Given the description of an element on the screen output the (x, y) to click on. 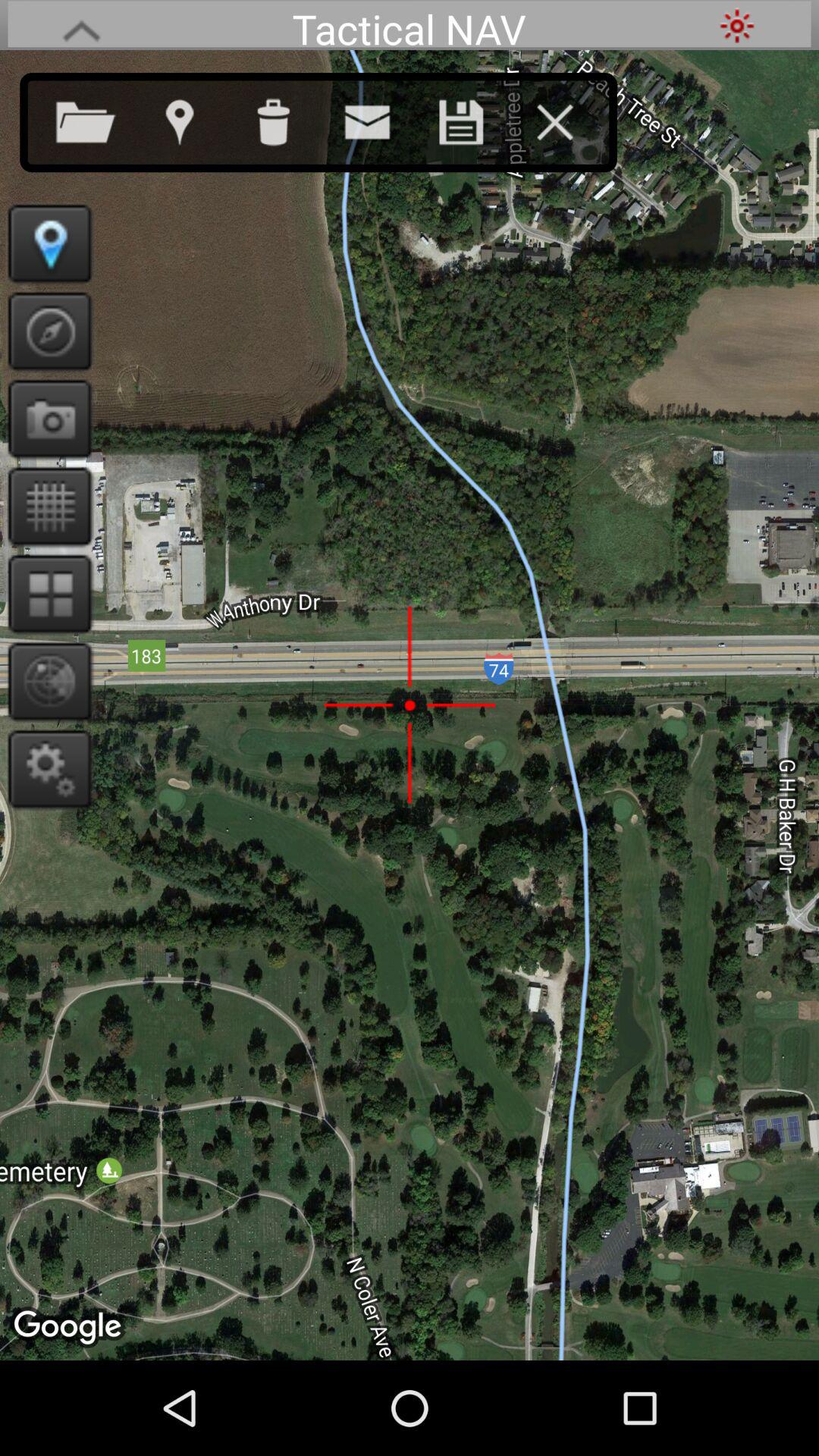
open file (100, 119)
